Given the description of an element on the screen output the (x, y) to click on. 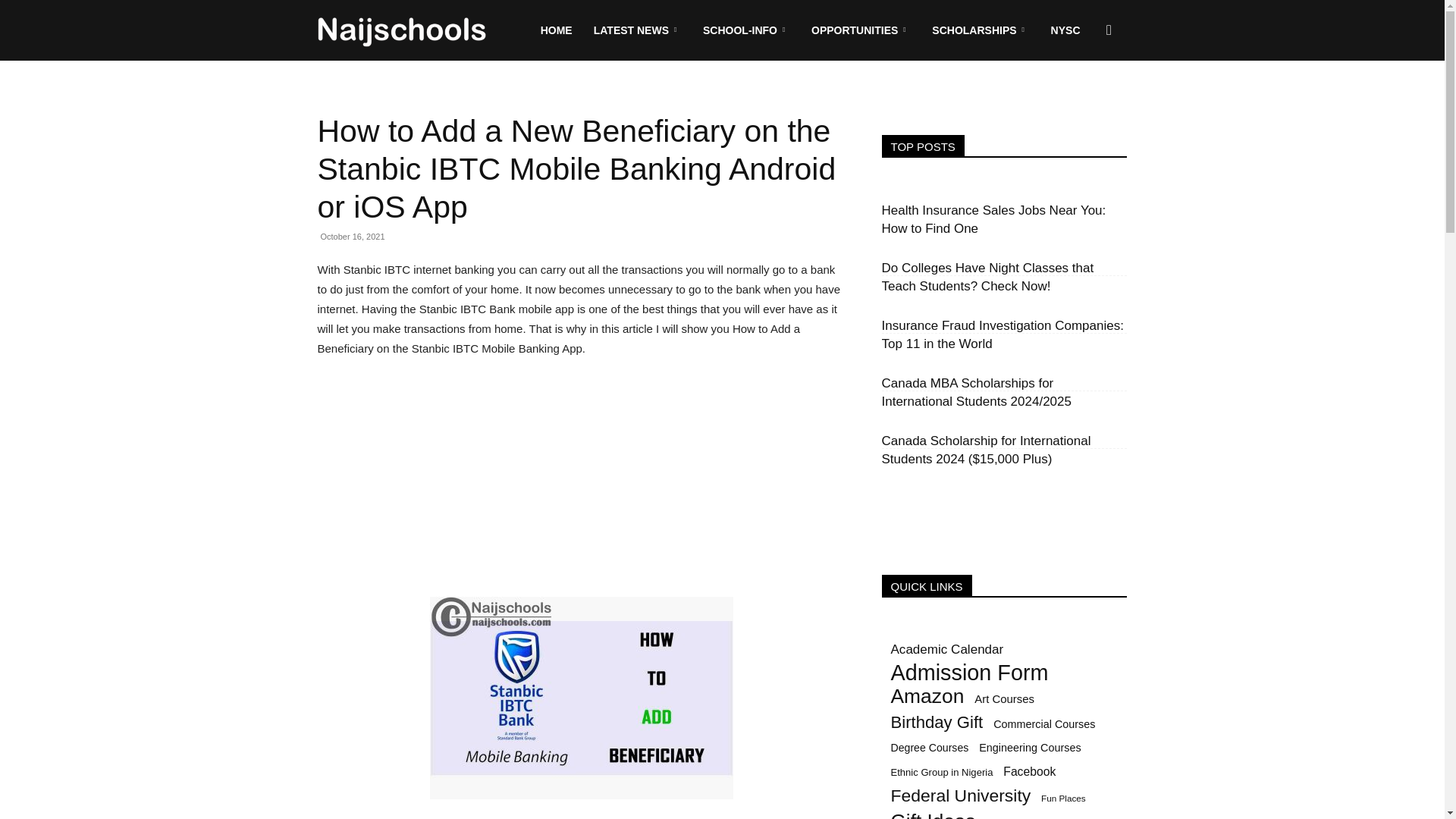
NAIJSCHOOLS (401, 30)
SCHOOL-INFO (746, 30)
LATEST NEWS (638, 30)
Advertisement (580, 484)
Health Insurance Sales Jobs Near You: How to Find One (992, 219)
Search (1085, 102)
Insurance Fraud Investigation Companies: Top 11 in the World (1001, 334)
HOME (556, 30)
